Given the description of an element on the screen output the (x, y) to click on. 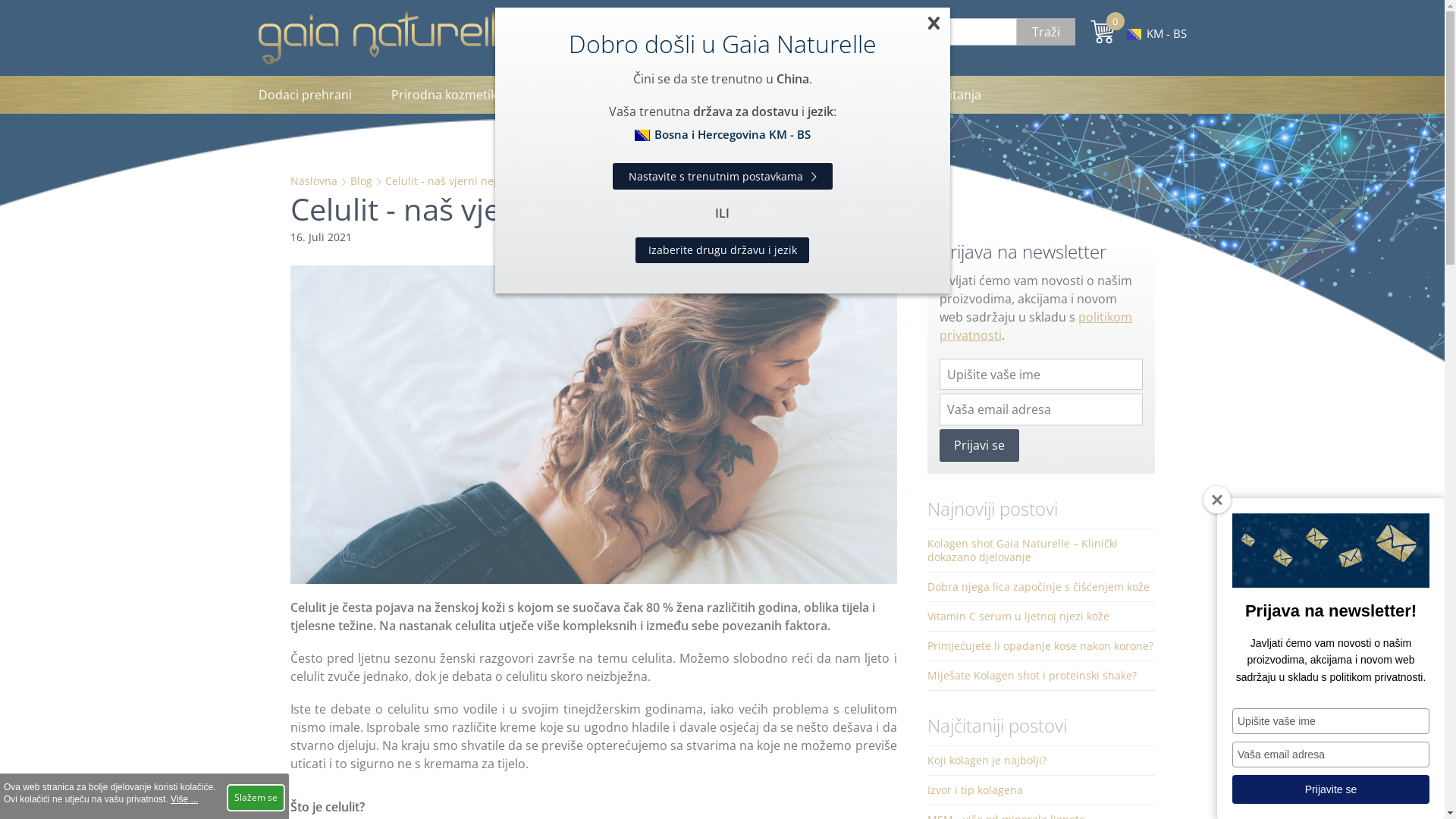
Iskustva kupaca Element type: text (856, 94)
Nastavite s trenutnim postavkama Element type: text (722, 176)
Pitanja Element type: text (961, 94)
Koji kolagen je najbolji? Element type: text (1040, 760)
Prijavi se Element type: text (978, 445)
Paketi Element type: text (690, 94)
x Element type: text (933, 23)
Blog Element type: text (361, 180)
0 Element type: text (1102, 31)
Prijavite se Element type: text (1330, 789)
Naslovna Element type: text (312, 180)
politikom privatnosti Element type: text (1034, 325)
Prirodna kozmetika Element type: text (447, 94)
KM - BS Element type: text (1156, 33)
Izvor i tip kolagena Element type: text (1040, 789)
Blog Element type: text (760, 94)
Dodaci prehrani Element type: text (313, 94)
Dodaci za njegu Element type: text (588, 94)
